Given the description of an element on the screen output the (x, y) to click on. 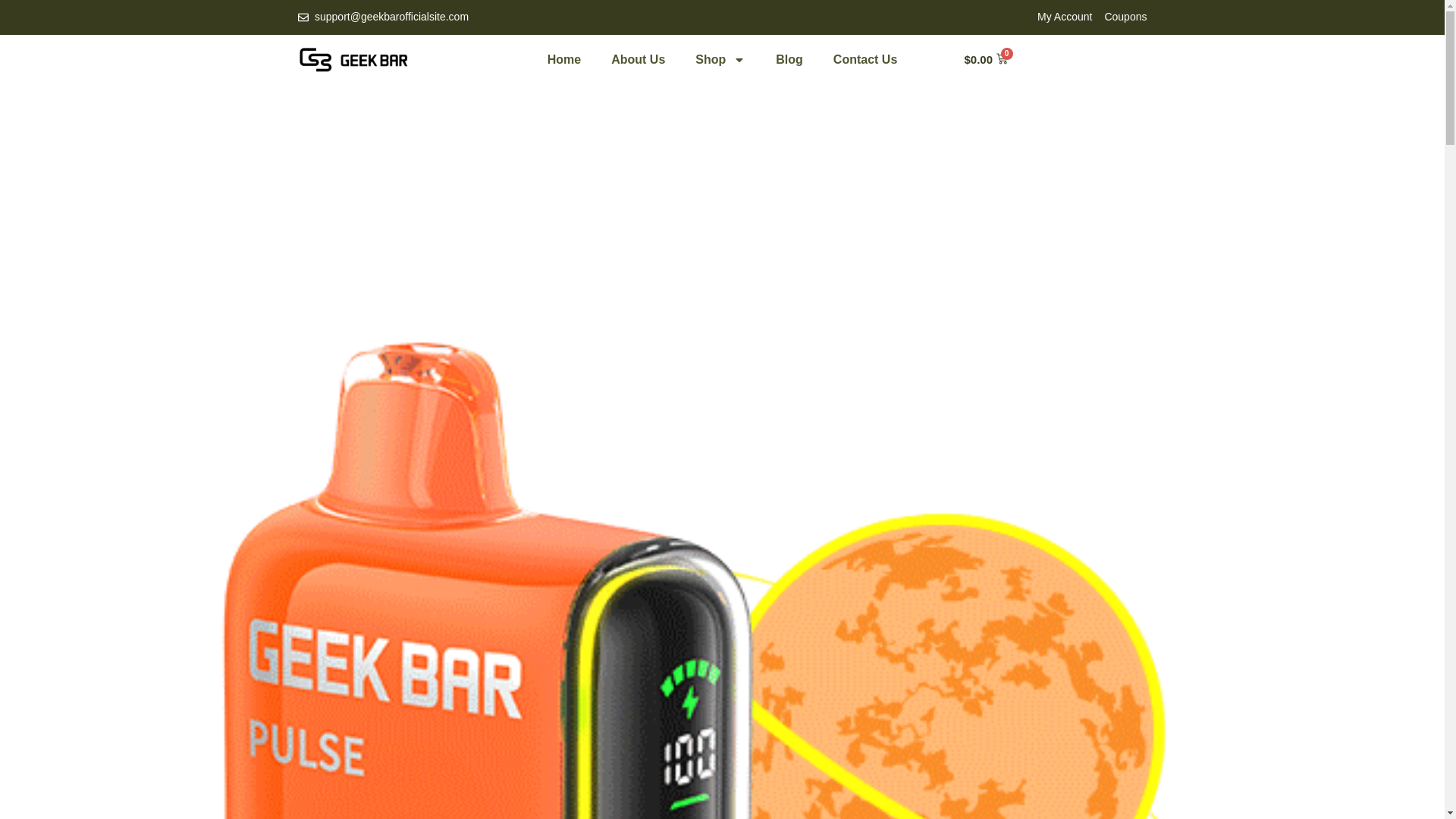
About Us (637, 59)
My Account (1064, 17)
Shop (719, 59)
Contact Us (865, 59)
Home (563, 59)
Blog (789, 59)
Coupons (1125, 17)
